Given the description of an element on the screen output the (x, y) to click on. 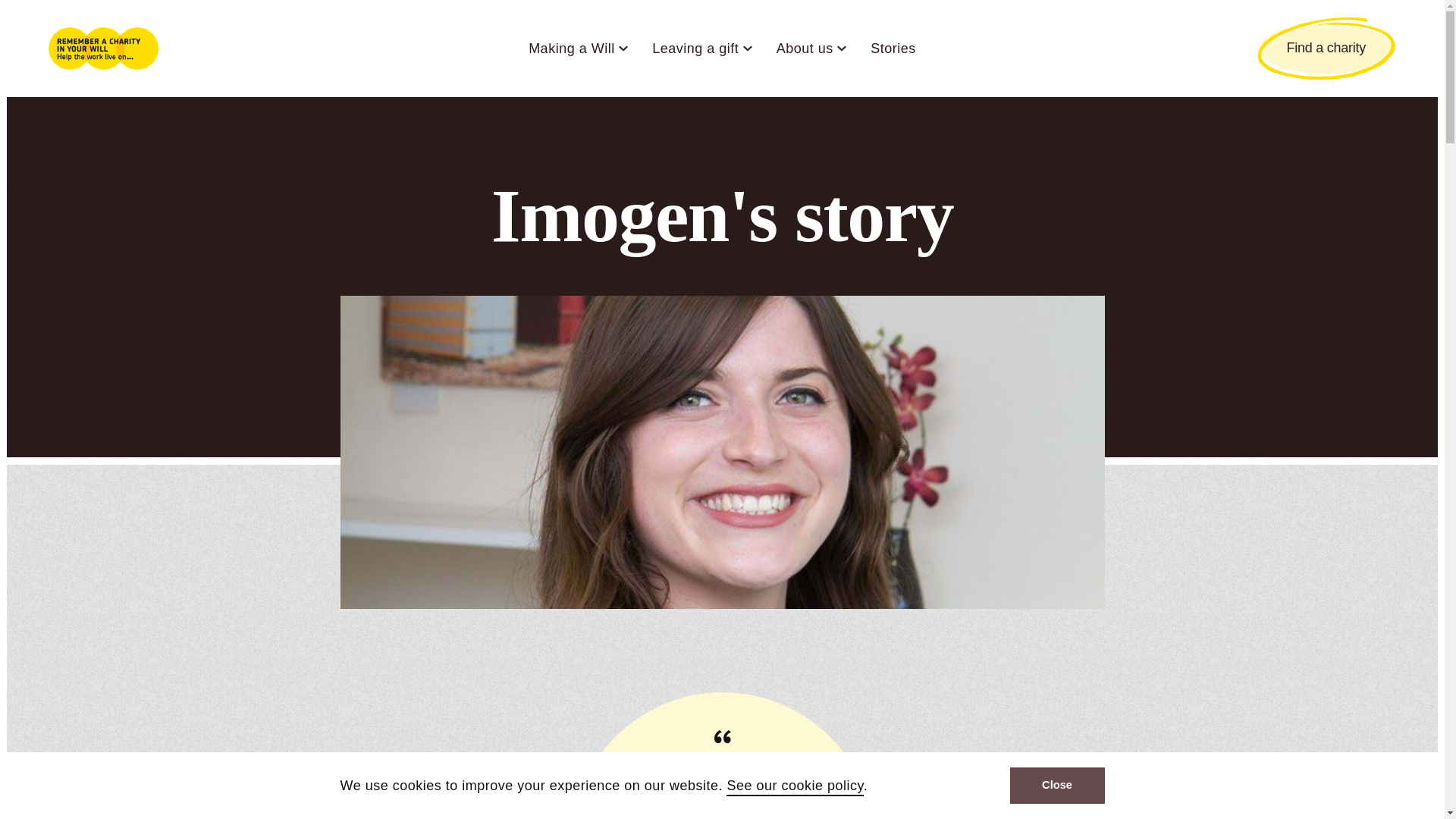
Making a Will (571, 48)
Find a charity (1325, 48)
About us (804, 48)
Cookie policy (794, 787)
Remember A Charity Home (103, 48)
Stories (892, 48)
Leaving a gift (695, 48)
